Given the description of an element on the screen output the (x, y) to click on. 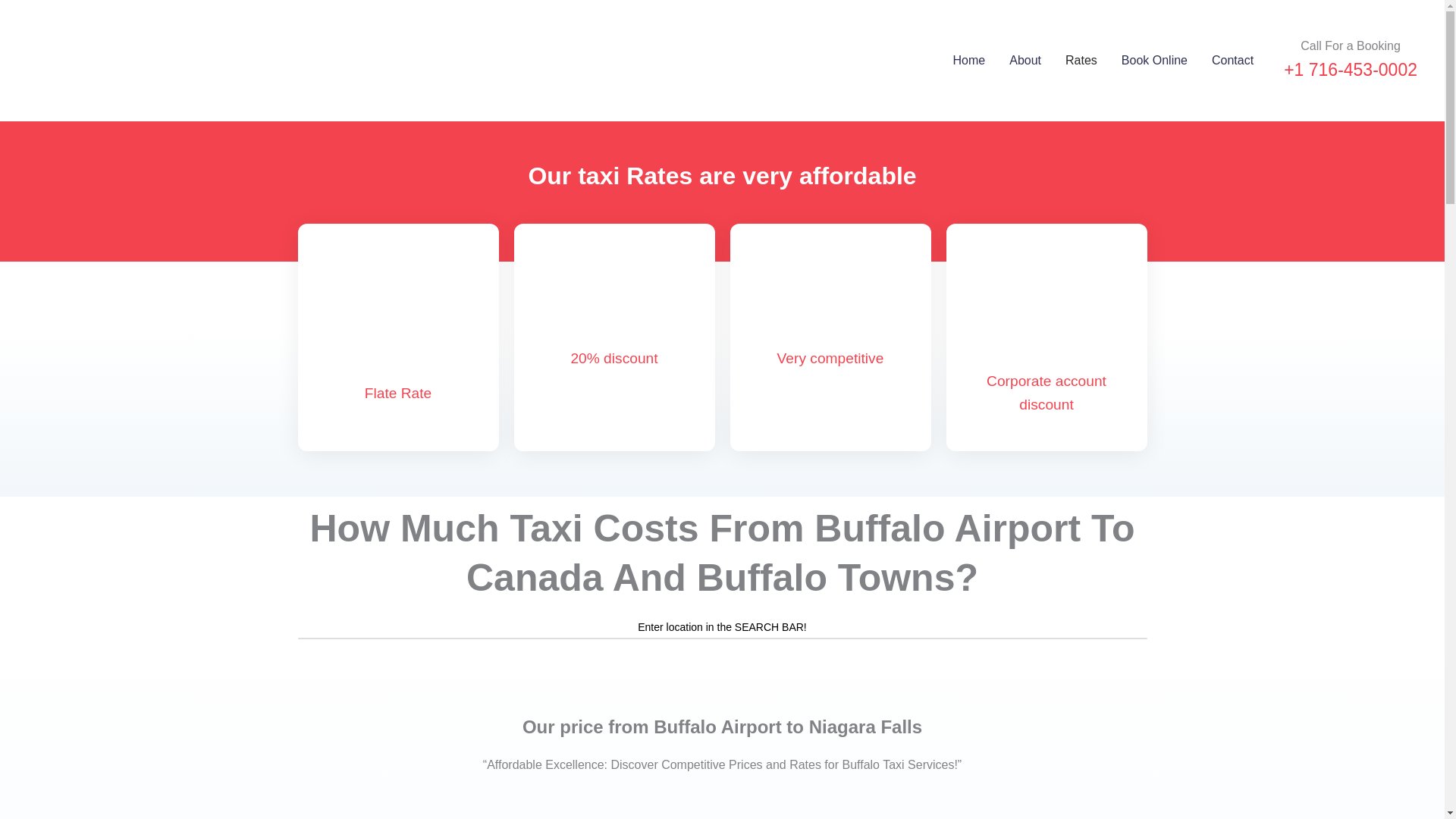
Contact (1232, 60)
Book Online (1154, 60)
About (1024, 60)
Rates (1080, 60)
Home (968, 60)
